Given the description of an element on the screen output the (x, y) to click on. 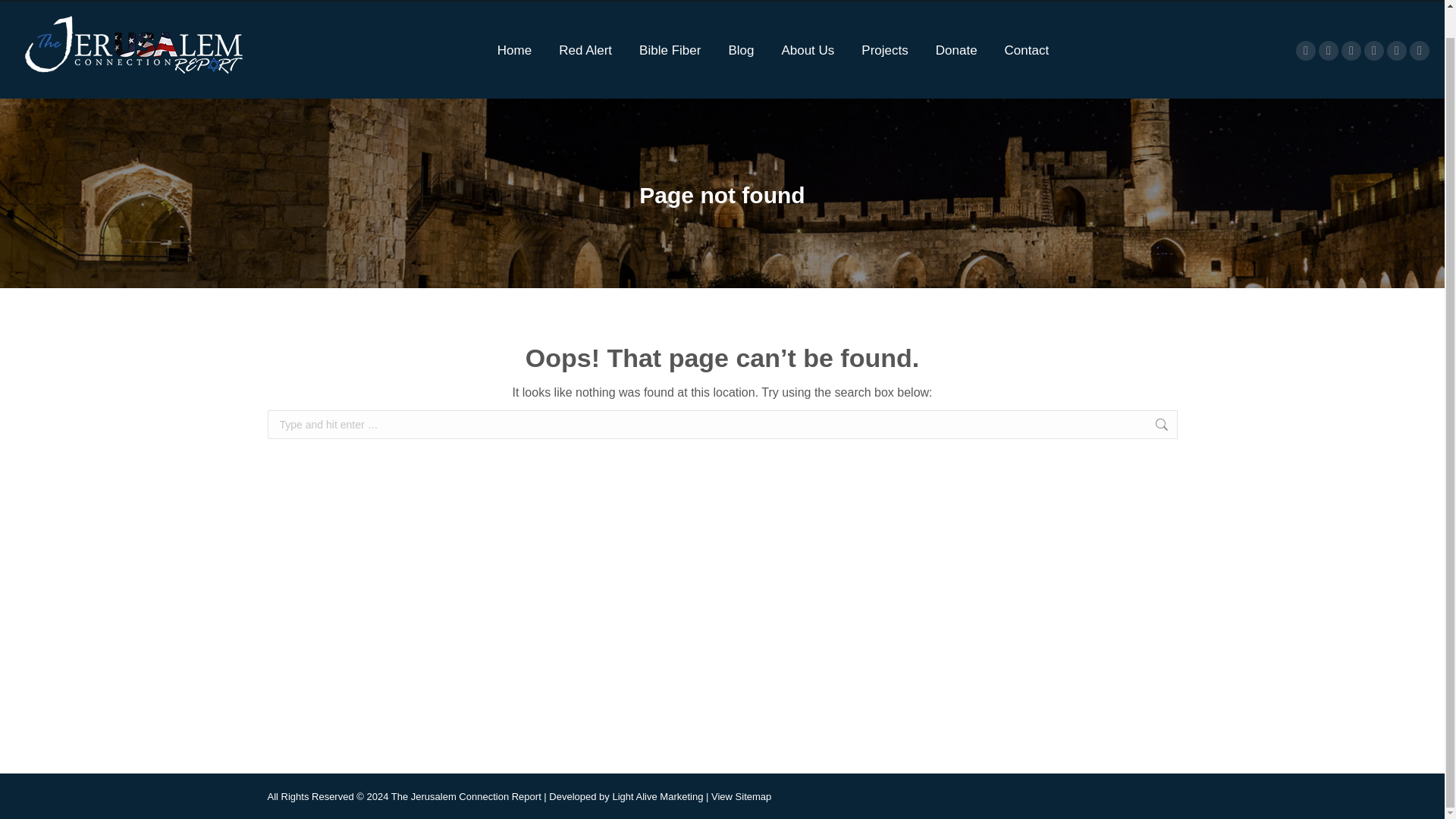
Go! (1200, 426)
Bible Fiber (669, 50)
Rss page opens in new window (1419, 50)
Facebook page opens in new window (1305, 50)
Go! (1200, 426)
Pinterest page opens in new window (1396, 50)
X page opens in new window (1328, 50)
Rss page opens in new window (1419, 50)
X page opens in new window (1328, 50)
YouTube page opens in new window (1350, 50)
